Given the description of an element on the screen output the (x, y) to click on. 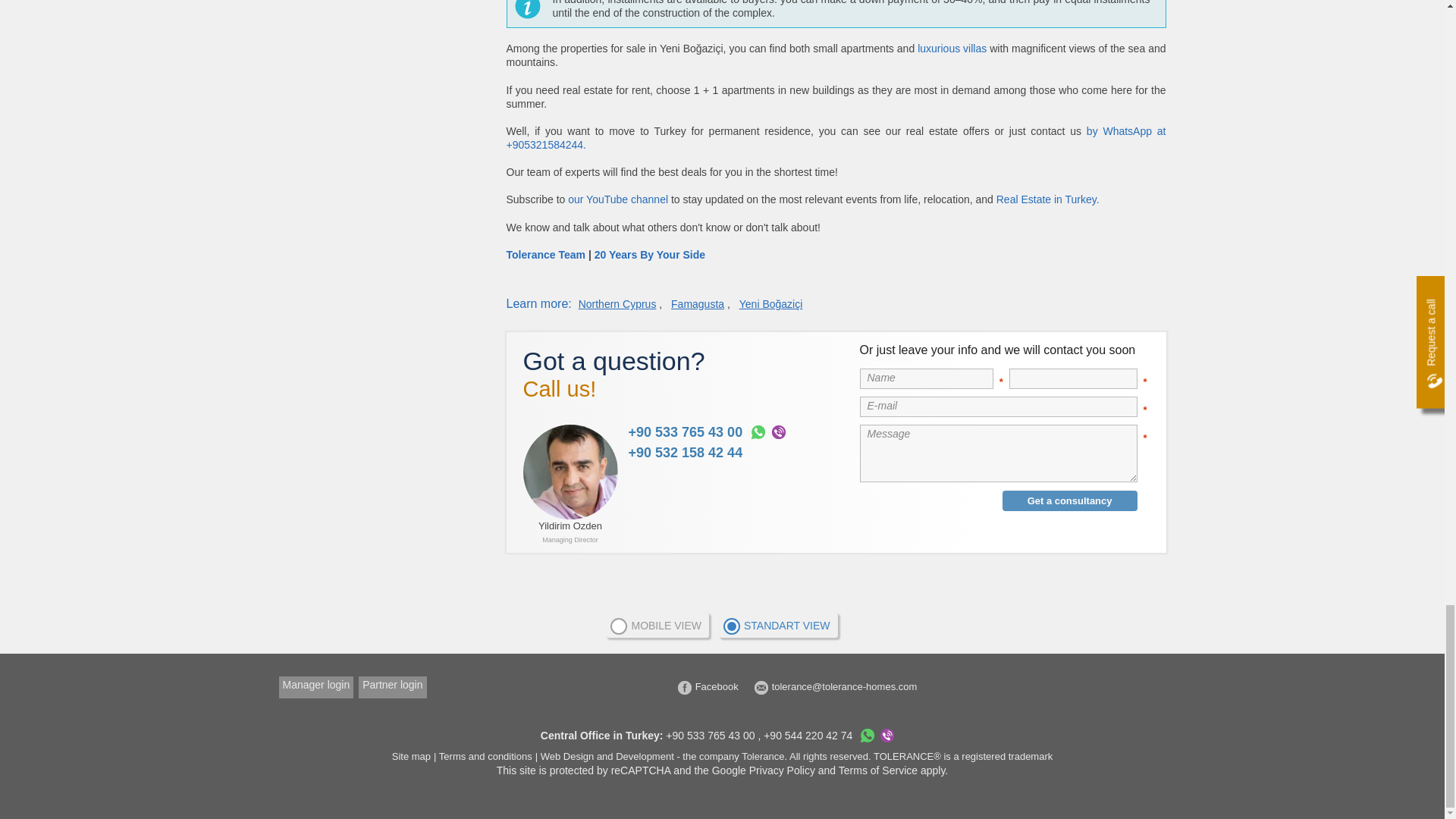
facebook (708, 686)
